Given the description of an element on the screen output the (x, y) to click on. 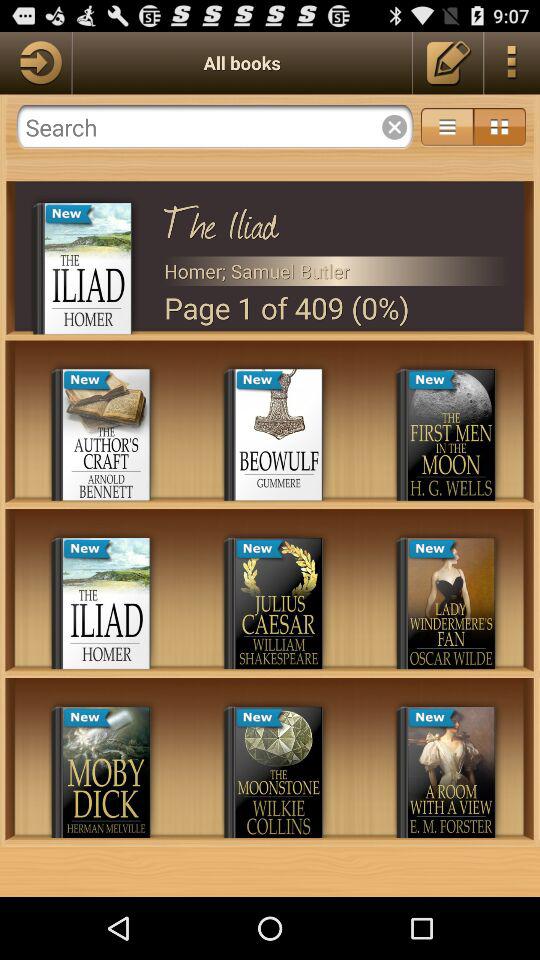
toggle notepad (448, 62)
